Given the description of an element on the screen output the (x, y) to click on. 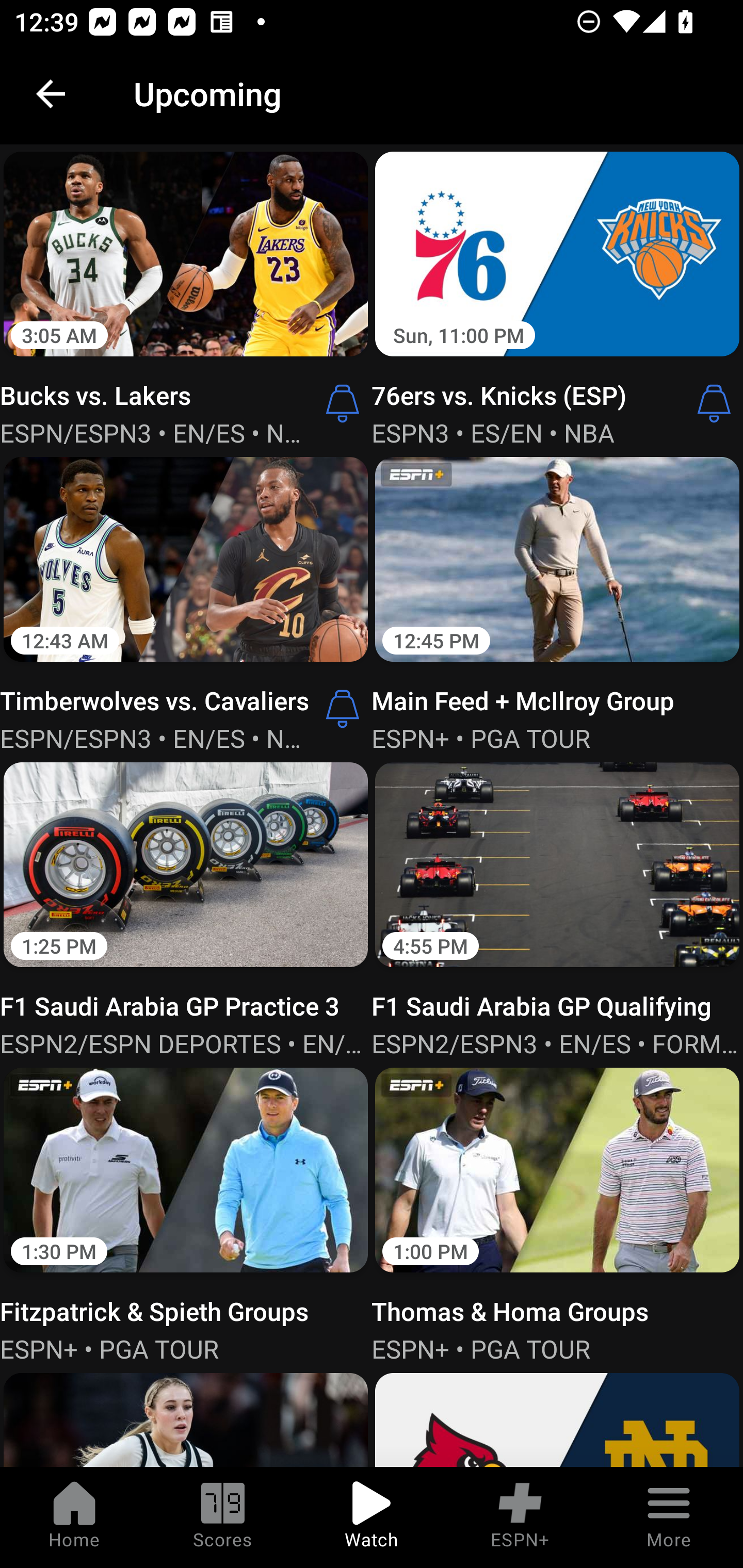
Alerts (342, 403)
Alerts (714, 403)
Alerts (342, 708)
1:00 PM Thomas & Homa Groups ESPN+ • PGA TOUR (557, 1212)
Home (74, 1517)
Scores (222, 1517)
ESPN+ (519, 1517)
More (668, 1517)
